Given the description of an element on the screen output the (x, y) to click on. 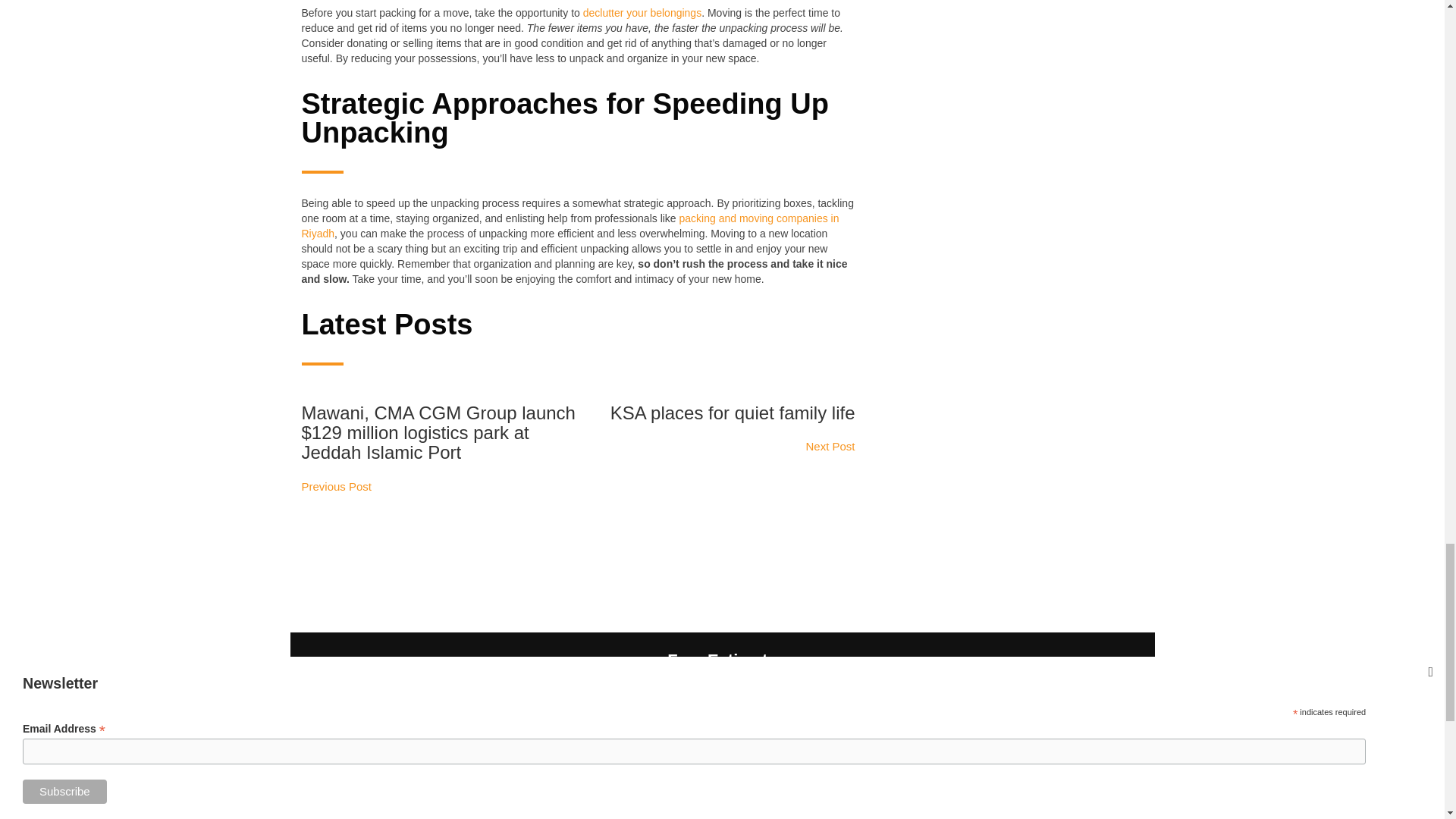
Get a Quote (722, 777)
